Given the description of an element on the screen output the (x, y) to click on. 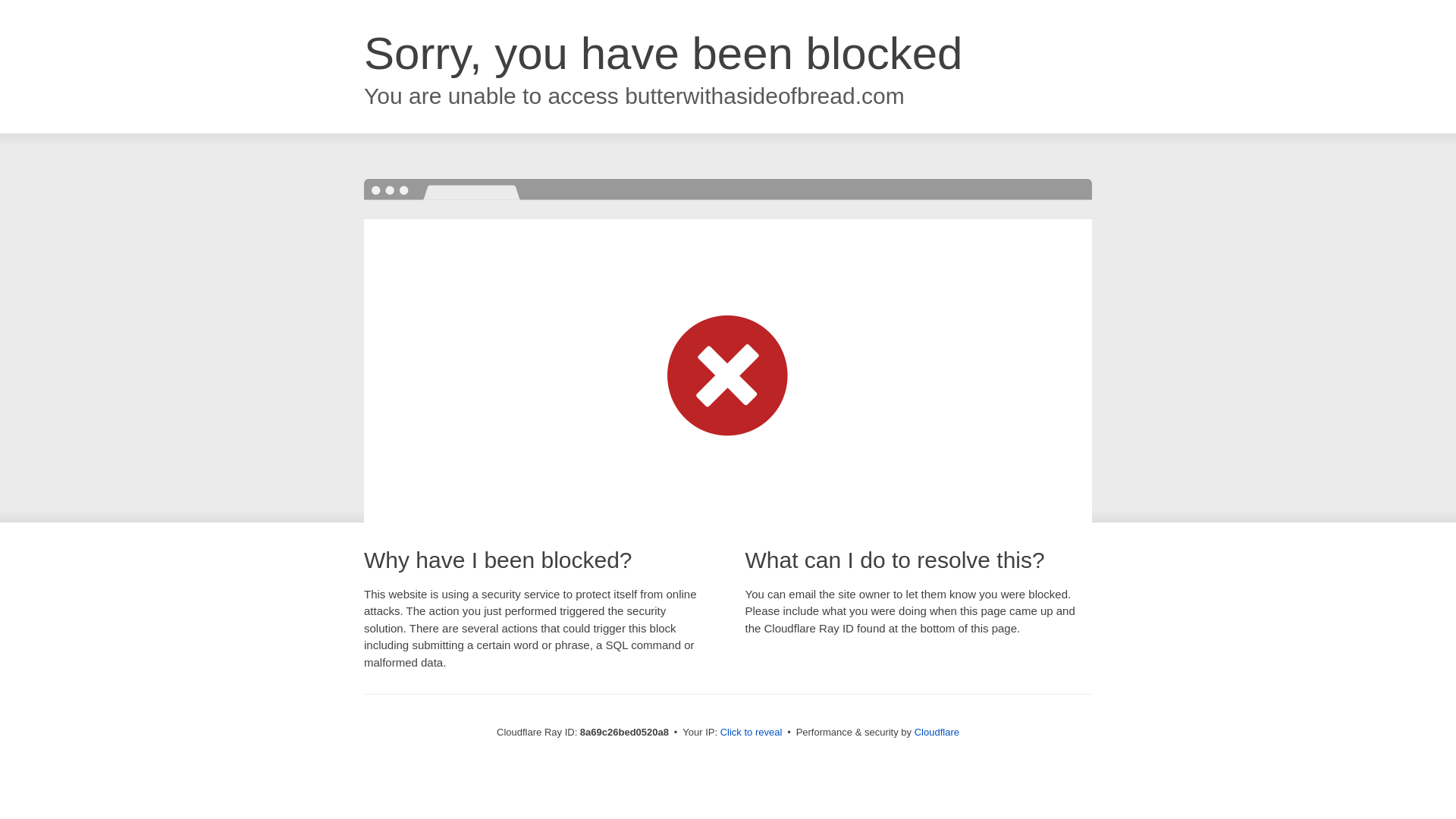
Click to reveal (751, 732)
Cloudflare (936, 731)
